Given the description of an element on the screen output the (x, y) to click on. 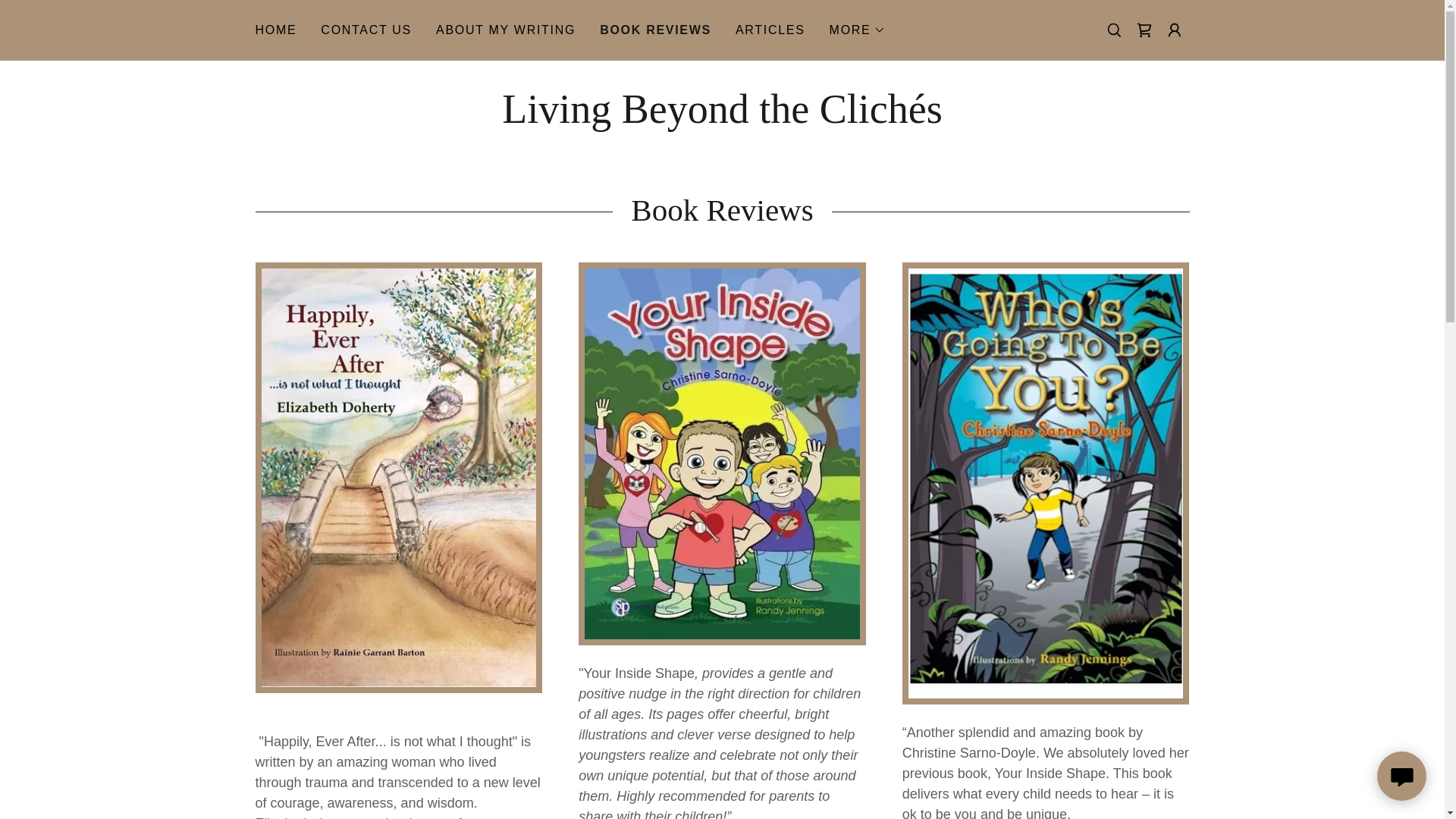
HOME (275, 30)
ABOUT MY WRITING (504, 30)
CONTACT US (365, 30)
ARTICLES (769, 30)
MORE (857, 30)
BOOK REVIEWS (655, 30)
